Given the description of an element on the screen output the (x, y) to click on. 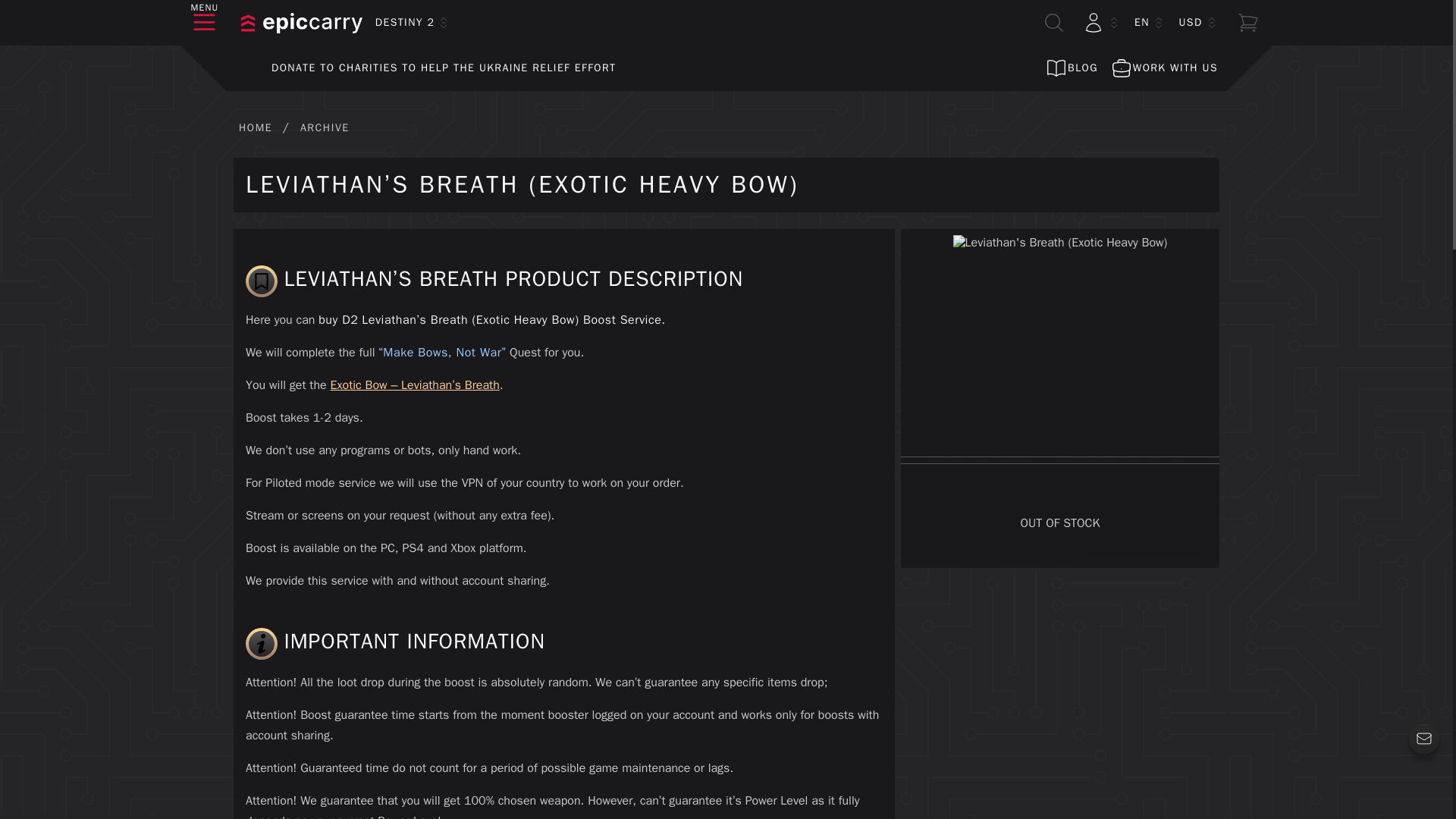
BLOG (1071, 67)
1 Star (1017, 432)
ARCHIVE (325, 127)
DONATE TO CHARITIES TO HELP THE UKRAINE RELIEF EFFORT (424, 67)
HOME (255, 127)
5 Stars (1101, 432)
2 Stars (1038, 432)
MENU (204, 22)
4 Stars (1081, 432)
3 Stars (1059, 432)
WORK WITH US (1163, 67)
